Given the description of an element on the screen output the (x, y) to click on. 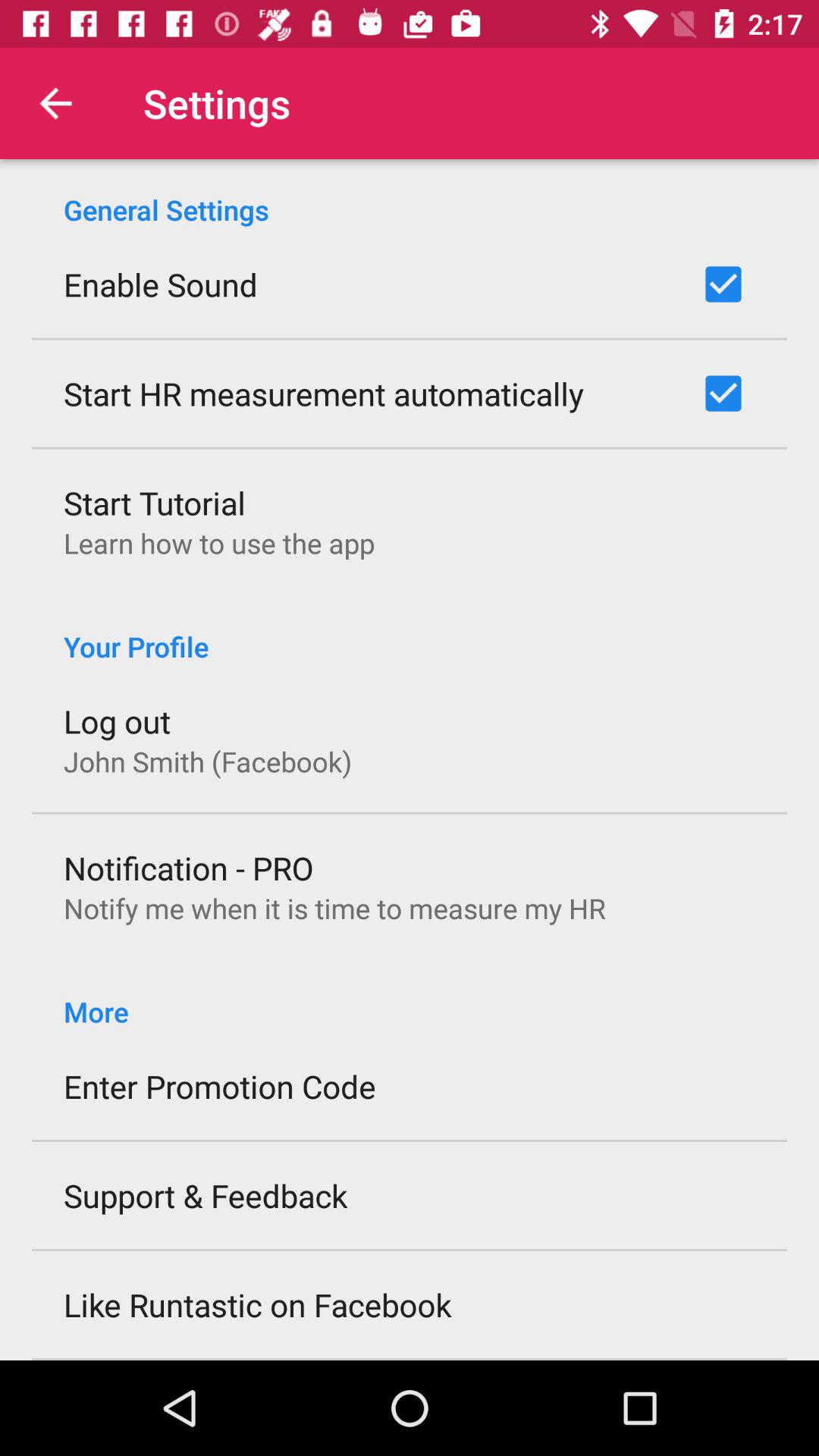
choose the icon above the enter promotion code item (409, 995)
